Given the description of an element on the screen output the (x, y) to click on. 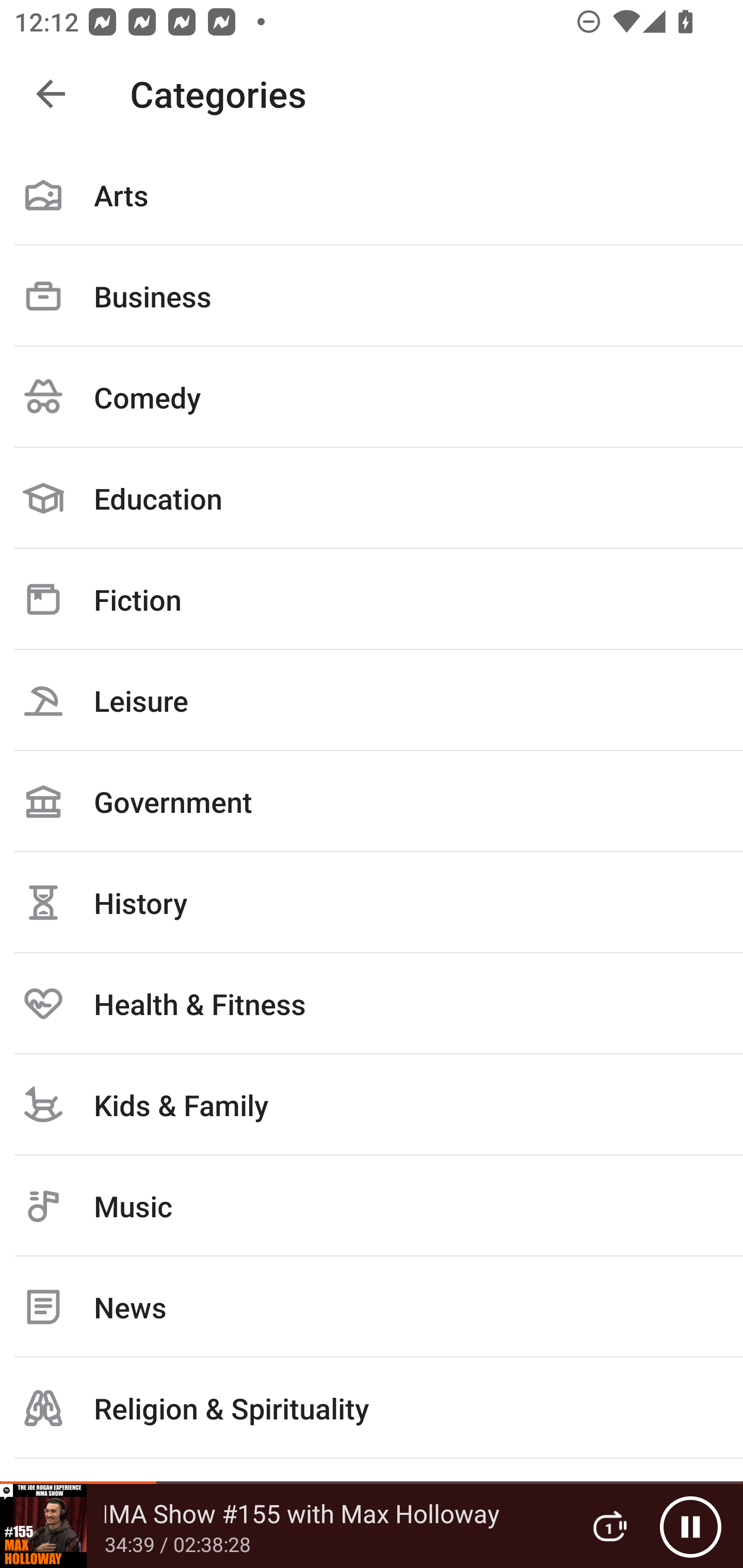
Navigate up (50, 93)
Arts (371, 195)
Business (371, 296)
Comedy (371, 397)
Education (371, 498)
Fiction (371, 598)
Leisure (371, 700)
Government (371, 801)
History (371, 902)
Health & Fitness (371, 1003)
Kids & Family (371, 1104)
Music (371, 1205)
News (371, 1306)
Religion & Spirituality (371, 1407)
Pause (690, 1526)
